Given the description of an element on the screen output the (x, y) to click on. 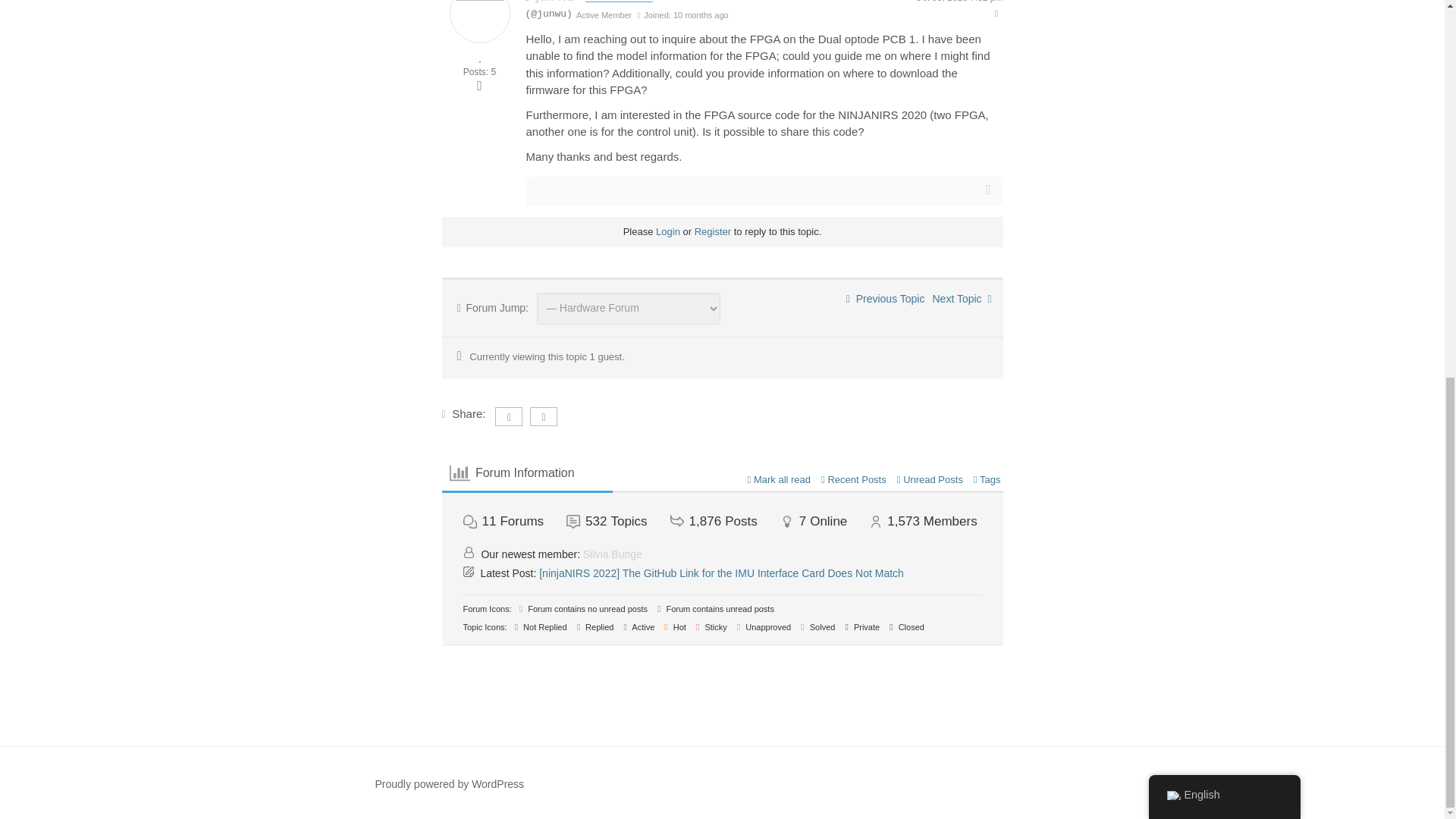
Silvia Bunge (612, 553)
More (479, 85)
NinjaCap (961, 298)
jun wu (555, 1)
Rating Title (603, 15)
Member Rating Badge (479, 56)
